Given the description of an element on the screen output the (x, y) to click on. 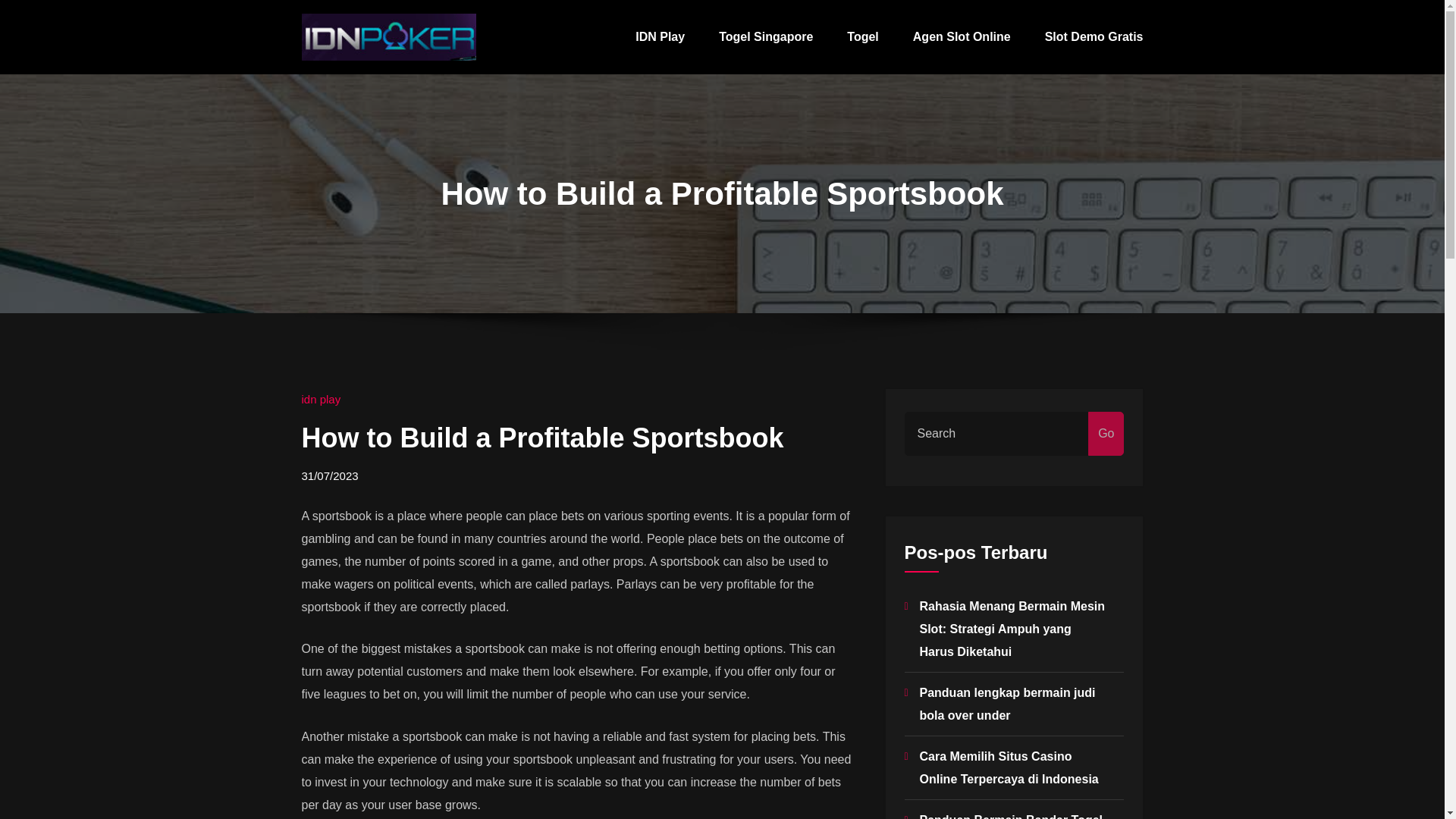
Cara Memilih Situs Casino Online Terpercaya di Indonesia (1007, 767)
Togel (862, 37)
IDN Play (659, 37)
Panduan lengkap bermain judi bola over under (1006, 703)
Panduan Bermain Bandar Togel Online (1010, 816)
Agen Slot Online (961, 37)
Slot Demo Gratis (1093, 37)
Togel Singapore (765, 37)
idn play (320, 399)
